Given the description of an element on the screen output the (x, y) to click on. 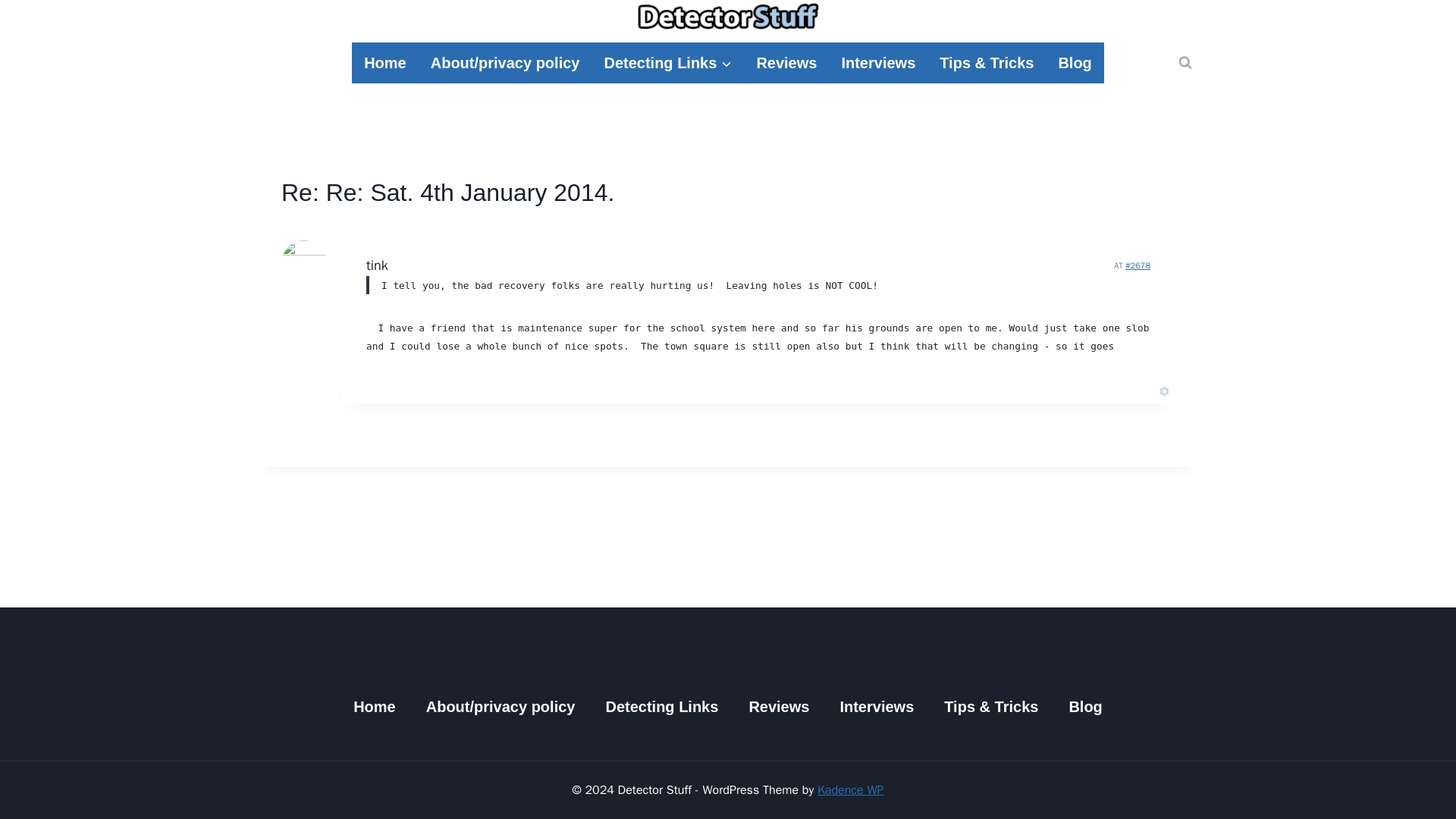
Detecting Links (661, 706)
Blog (1074, 62)
Blog (1084, 706)
View tink's profile (377, 265)
Reviews (786, 62)
Reviews (778, 706)
Home (373, 706)
Re: Re: Sat. 4th January 2014. (1137, 265)
Interviews (877, 62)
Detecting Links (667, 62)
